Given the description of an element on the screen output the (x, y) to click on. 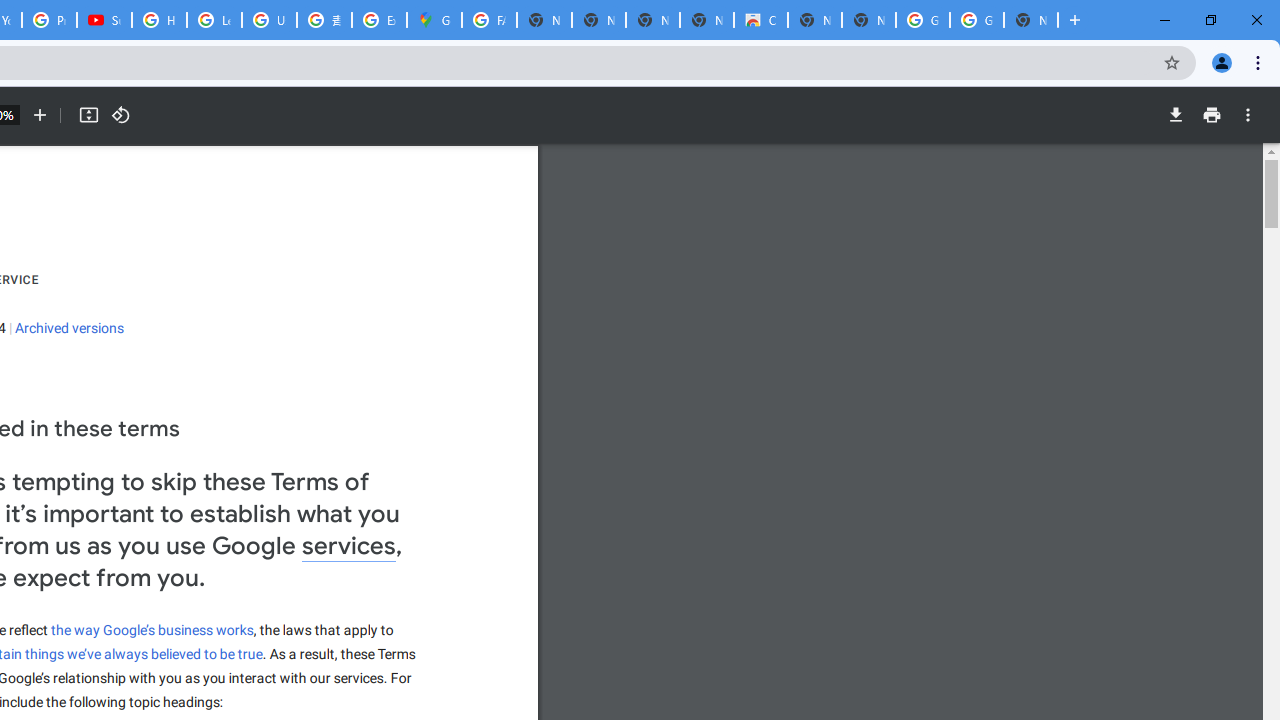
Google Images (922, 20)
Print (1211, 115)
Zoom in (39, 115)
Fit to page (87, 115)
Download (1175, 115)
Explore new street-level details - Google Maps Help (379, 20)
services (349, 547)
Google Maps (434, 20)
Chrome Web Store (760, 20)
New Tab (1030, 20)
